Given the description of an element on the screen output the (x, y) to click on. 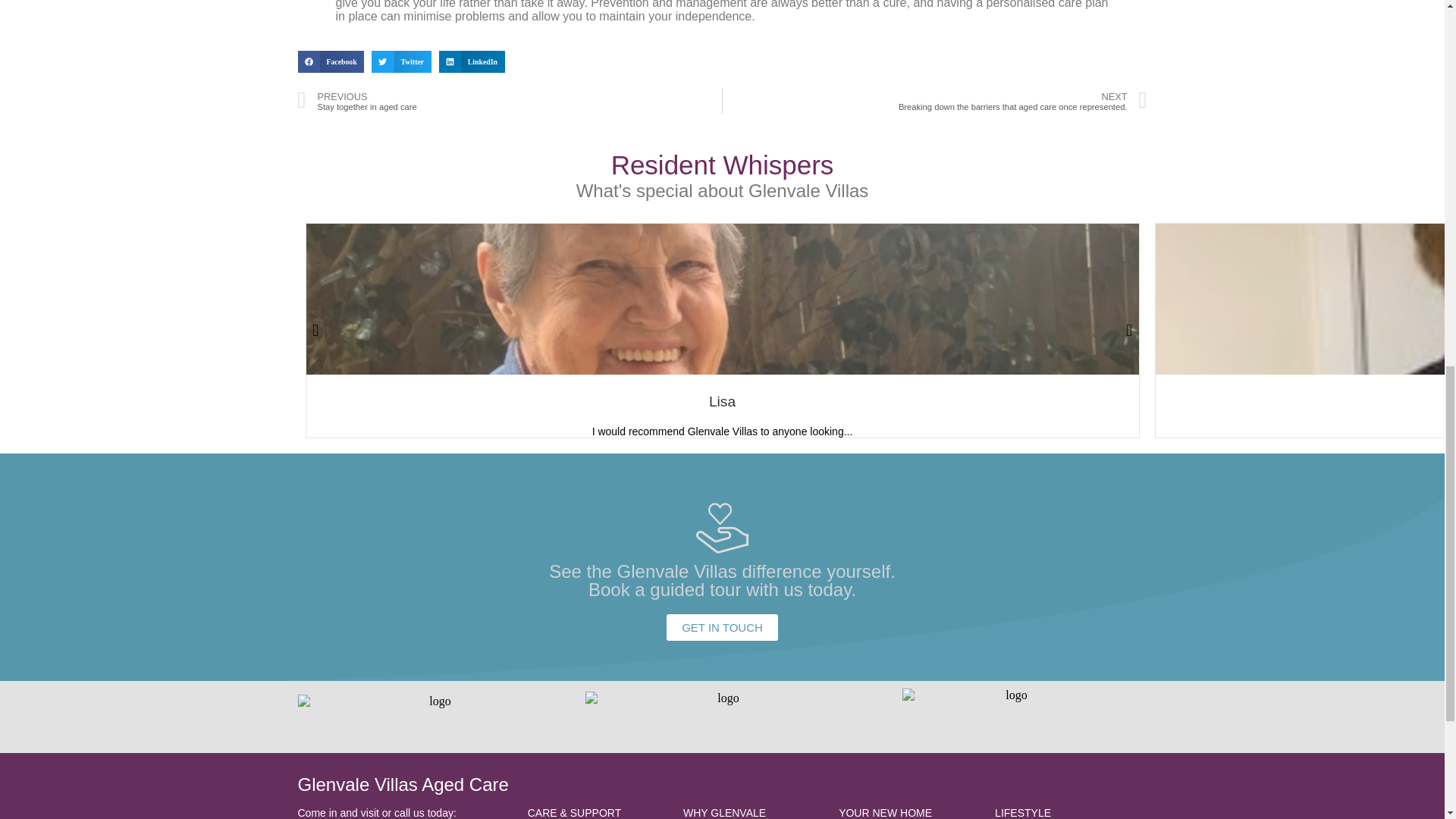
Page 1 (597, 811)
Page 1 (1070, 811)
Lisa (722, 401)
Page 1 (753, 811)
Page 1 (908, 811)
Lisa (722, 401)
Page 1 (404, 811)
